Given the description of an element on the screen output the (x, y) to click on. 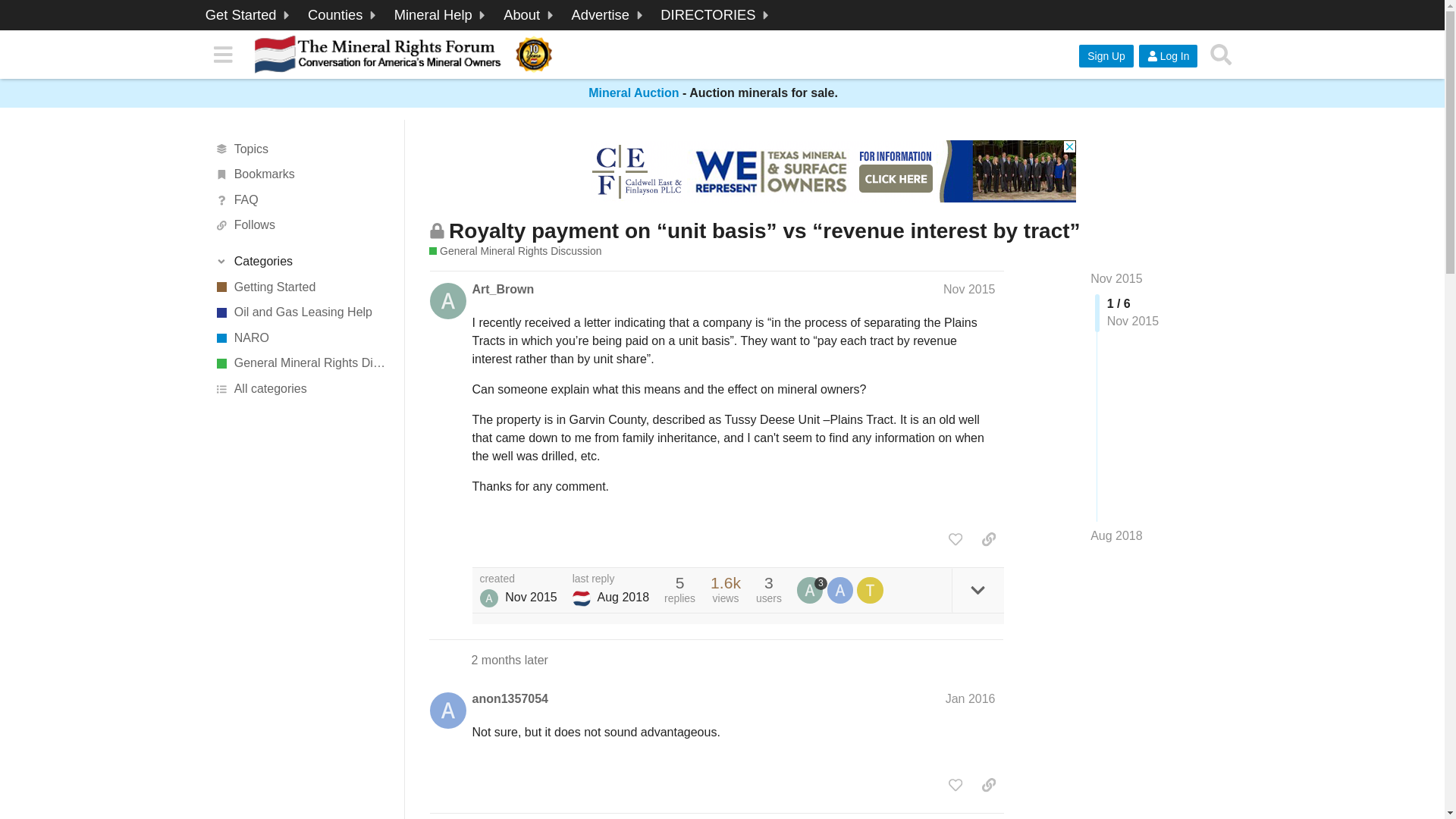
DIRECTORIES (715, 15)
Counties (344, 15)
Mineral Help (441, 15)
About (530, 15)
Get Started (249, 15)
Advertise (608, 15)
Owner Education (441, 15)
